Given the description of an element on the screen output the (x, y) to click on. 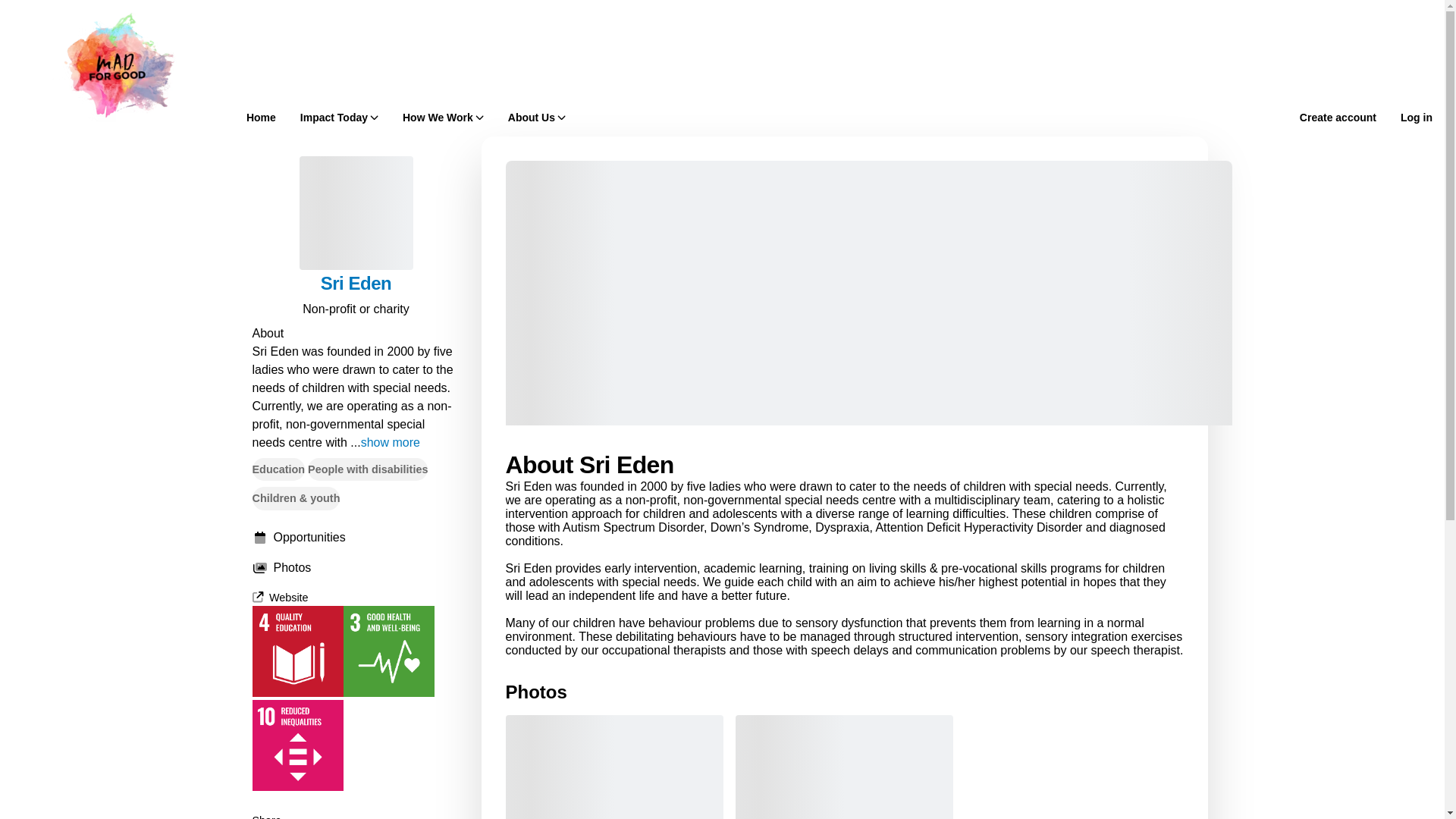
Home (261, 117)
About Us (537, 117)
show more (390, 443)
Photos (355, 567)
Opportunities (355, 537)
How We Work (443, 117)
Impact Today (338, 117)
Log in (1416, 117)
Website (279, 597)
